Given the description of an element on the screen output the (x, y) to click on. 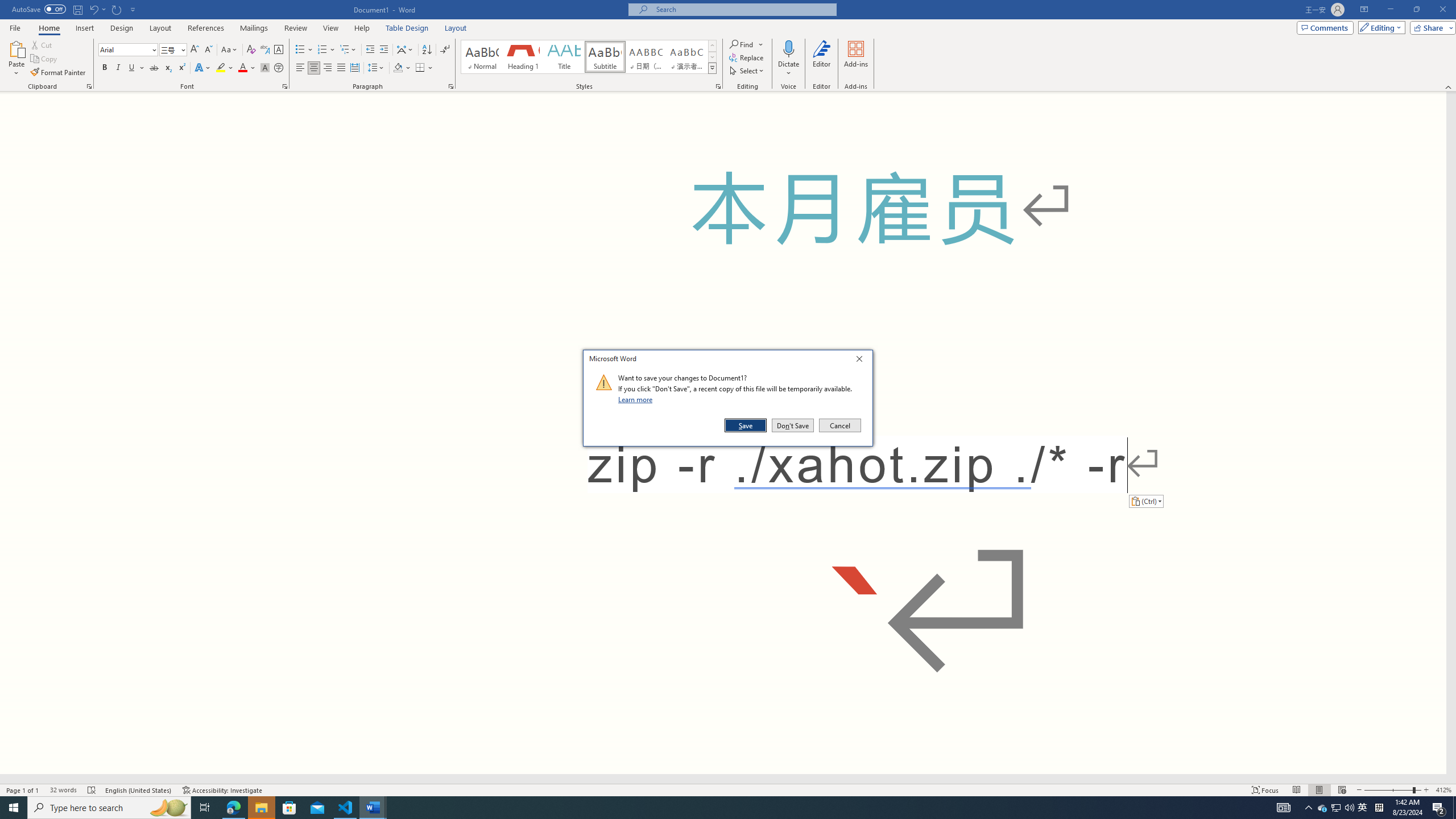
Clear Formatting (250, 49)
Text Highlight Color (224, 67)
Sort... (426, 49)
Ribbon Display Options (1364, 9)
Action Center, 2 new notifications (1439, 807)
Running applications (700, 807)
Search highlights icon opens search home window (167, 807)
Undo Paste (96, 9)
Decrease Indent (370, 49)
Don't Save (792, 425)
